Given the description of an element on the screen output the (x, y) to click on. 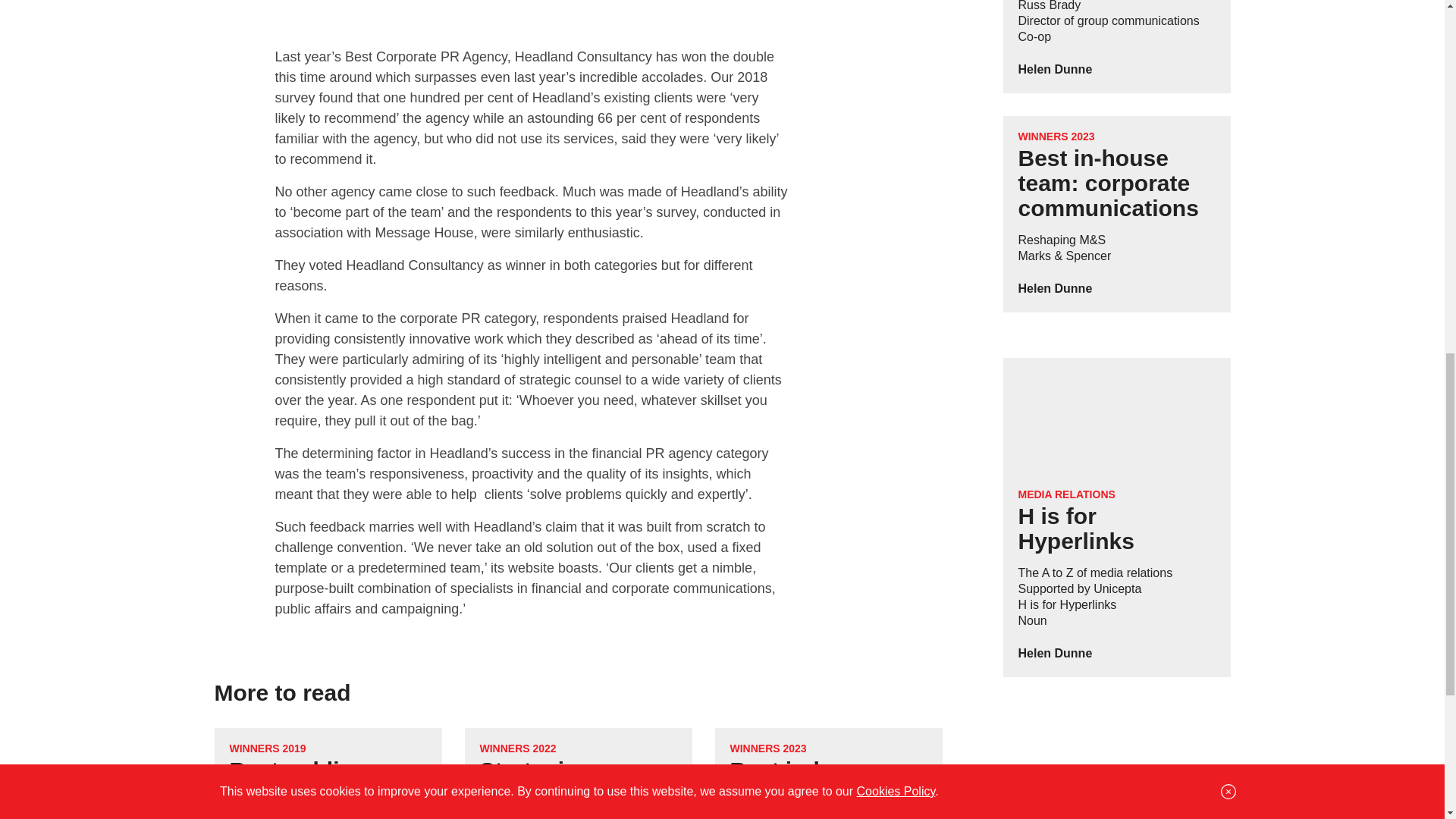
WINNERS 2022 (517, 748)
Strategic agency of the year (570, 782)
Best in-house team: corporate communications (819, 788)
WINNERS 2019 (266, 748)
Best public affairs campaign (318, 782)
WINNERS 2023 (767, 748)
